Given the description of an element on the screen output the (x, y) to click on. 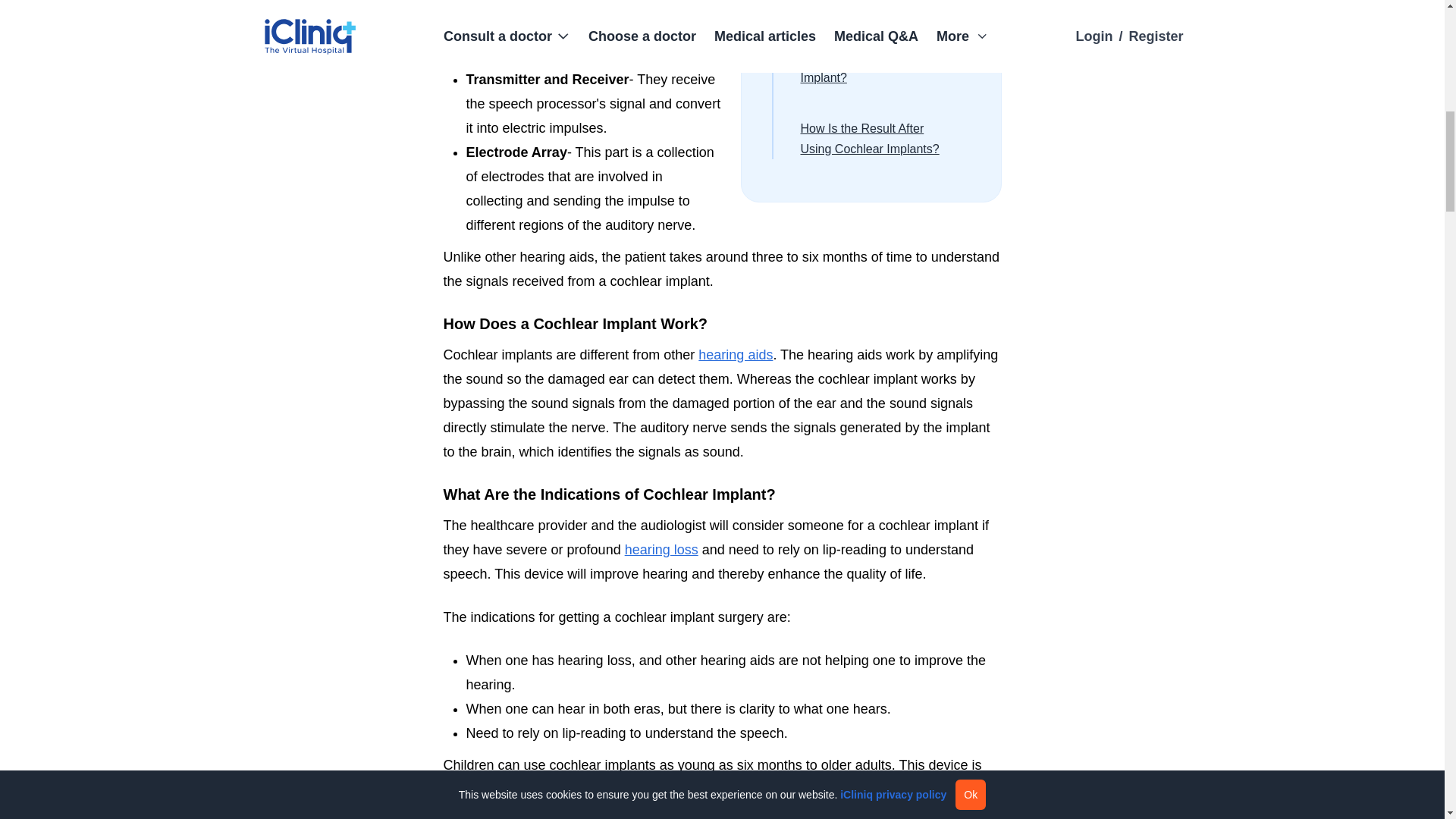
hearing loss (661, 549)
Hearing Aids (735, 354)
